Given the description of an element on the screen output the (x, y) to click on. 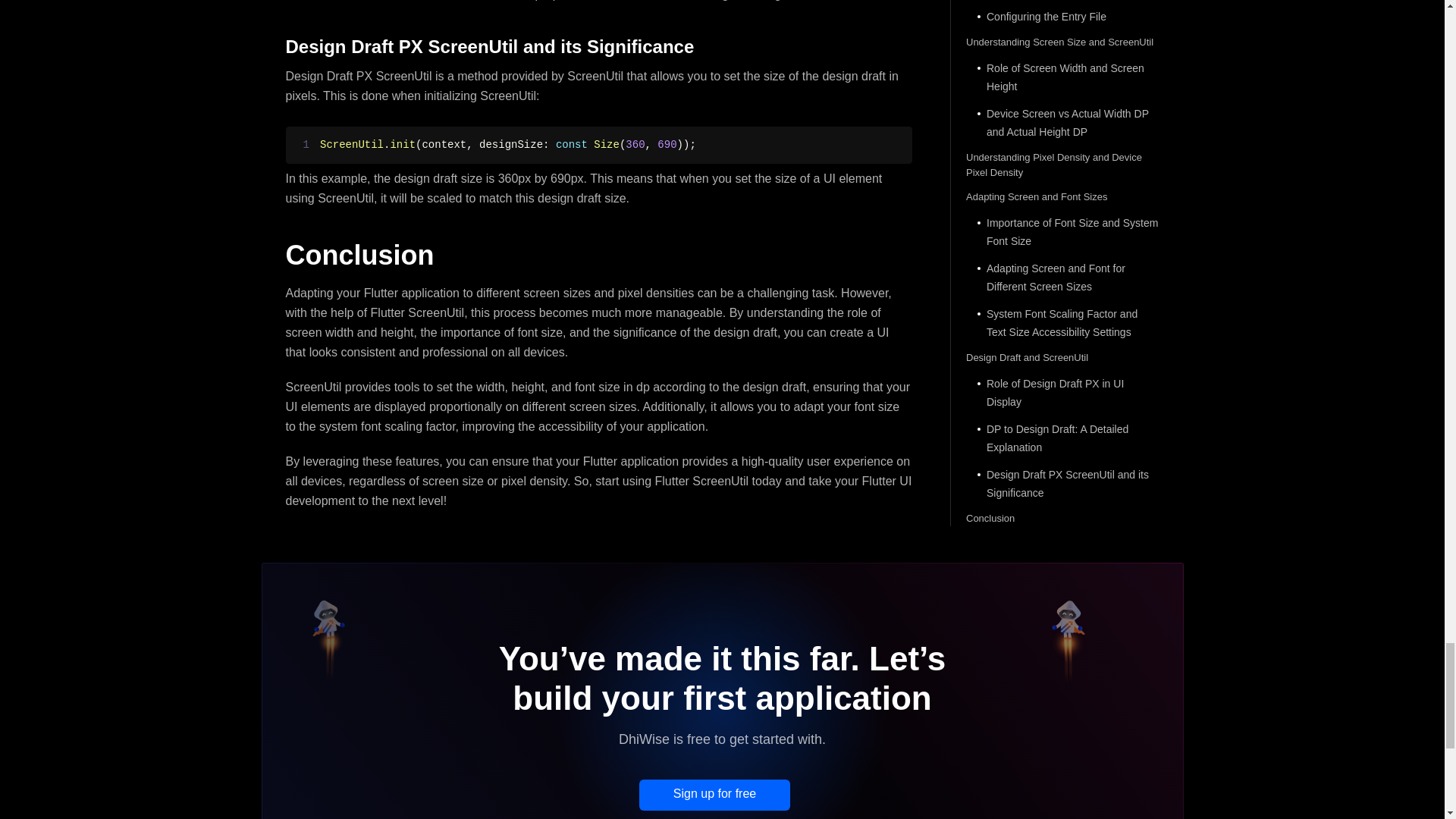
Sign up for free (714, 794)
